Given the description of an element on the screen output the (x, y) to click on. 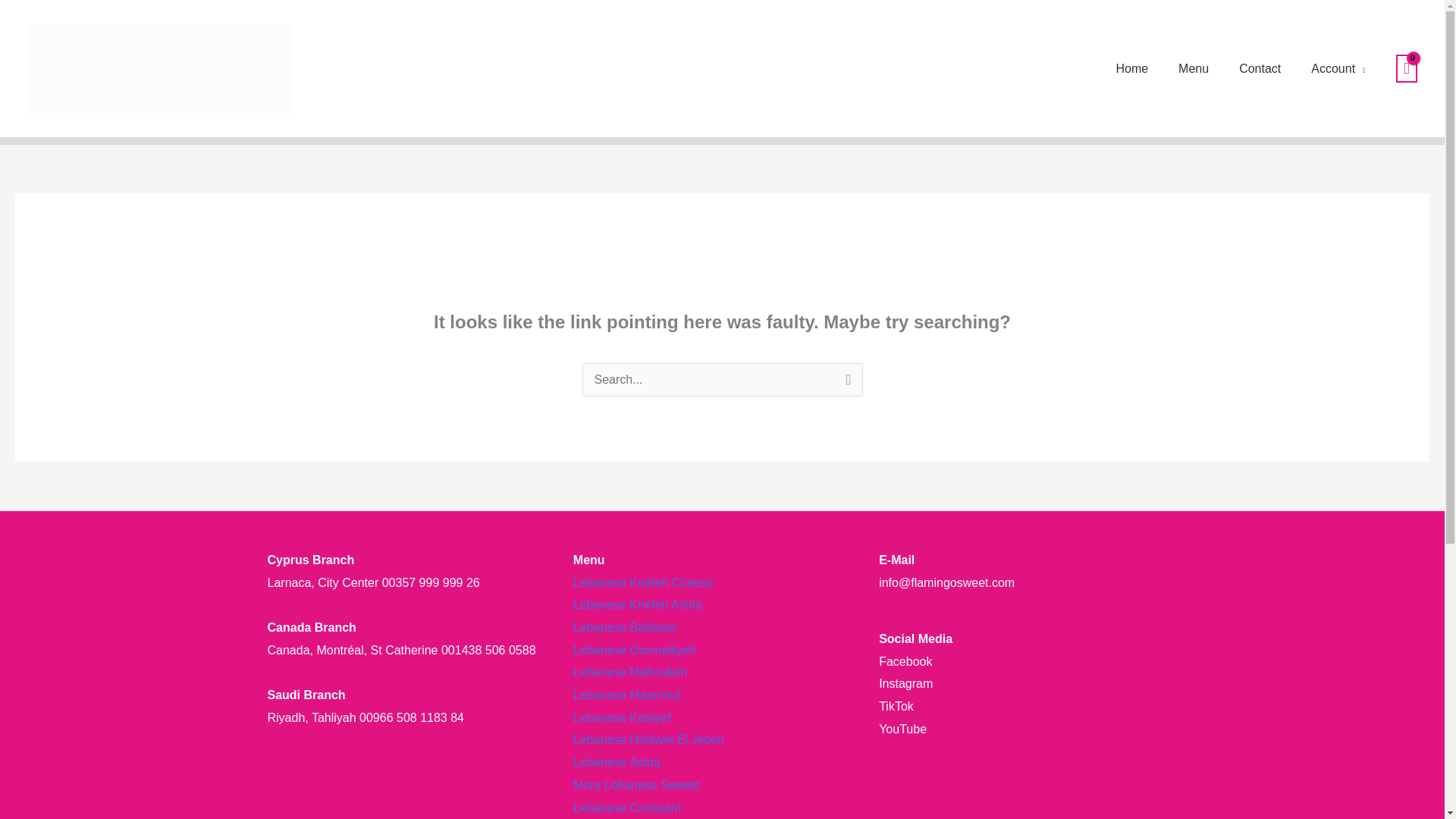
Lebanese Ossmalliyeh (634, 649)
Menu (1193, 68)
Home (1131, 68)
Account (1337, 68)
Lebanese Halawet El Jeben (648, 739)
Lebanese Ashta (617, 762)
Lebanese Baklawa (624, 626)
Lebanese Knefeh Cheese (643, 582)
Lebanese Knefeh Ashta (637, 604)
Contact (1259, 68)
Lebanese Mafroukeh (630, 671)
More Lebanese Sweets (636, 784)
Lebanese Croissant (627, 807)
Lebanese Maamoul (626, 694)
Lebanese Katayef (622, 717)
